Given the description of an element on the screen output the (x, y) to click on. 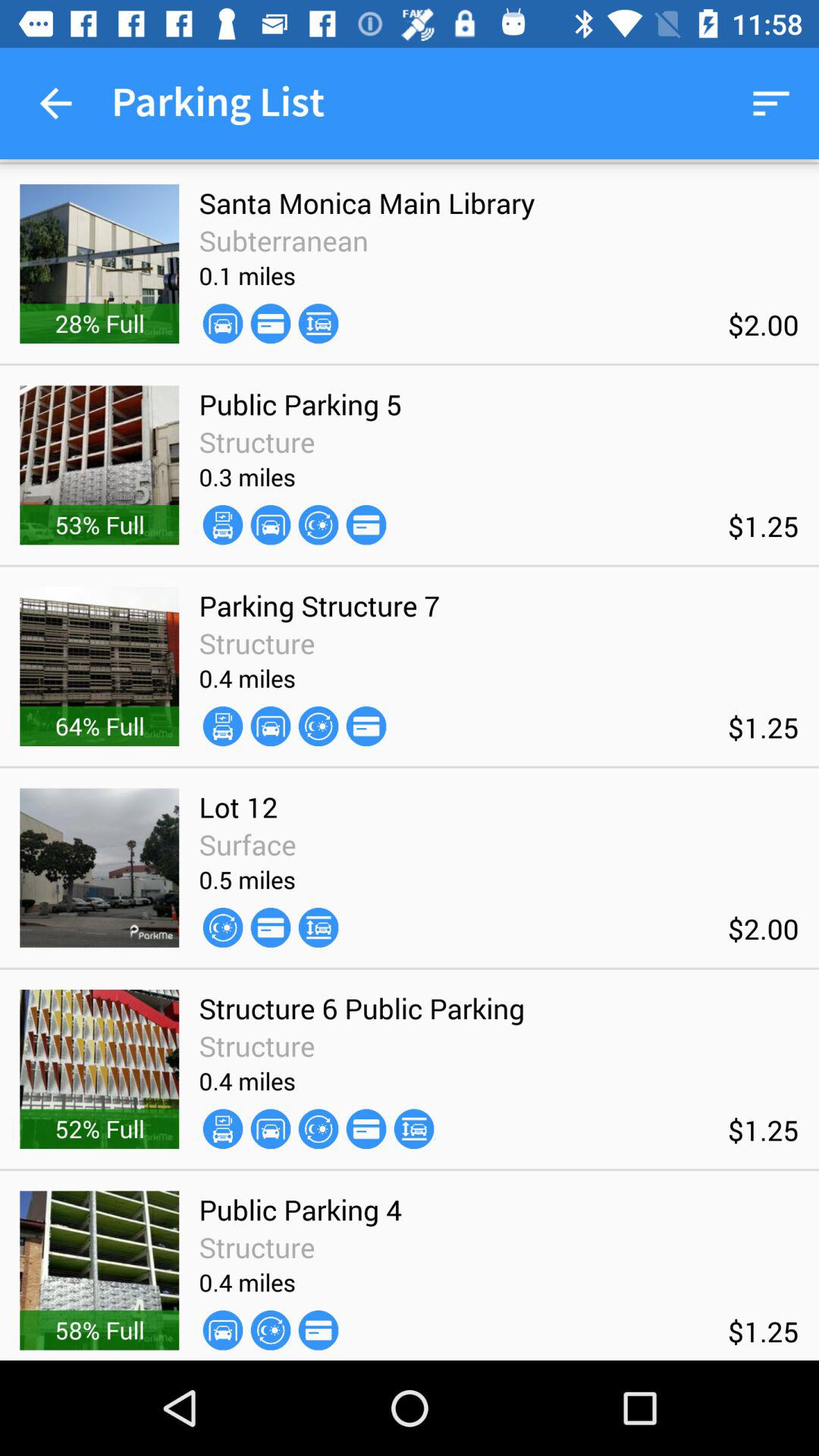
tap the icon next to the 0.5 miles (318, 927)
